Given the description of an element on the screen output the (x, y) to click on. 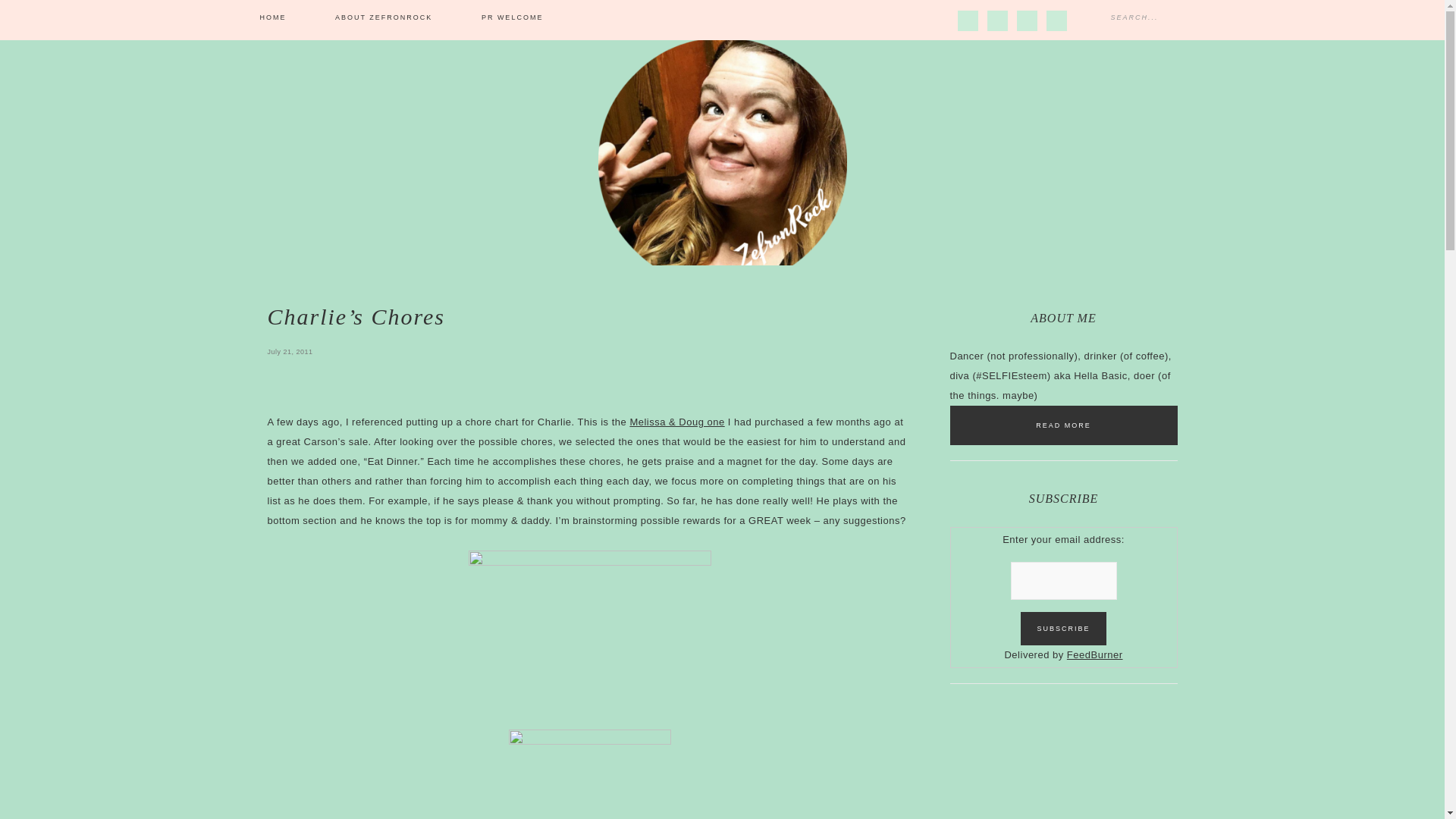
Subscribe (1062, 628)
READ MORE (1062, 425)
ABOUT ZEFRONROCK (383, 18)
FeedBurner (1094, 654)
HOME (271, 18)
Subscribe (1062, 628)
MIXED PRINTS LIFE (721, 151)
PR WELCOME (512, 18)
